Given the description of an element on the screen output the (x, y) to click on. 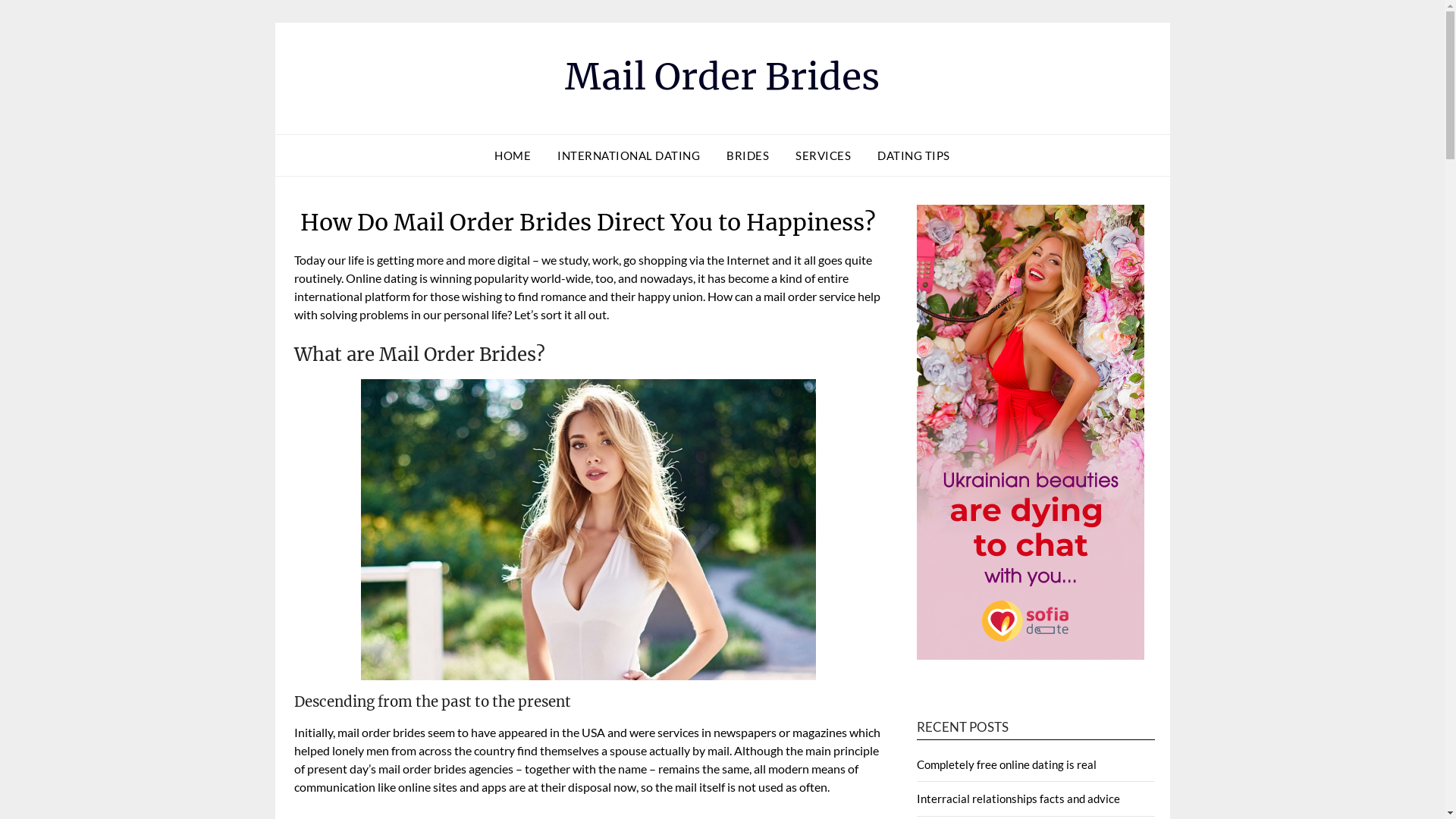
Completely free online dating is real Element type: text (1005, 764)
DATING TIPS Element type: text (913, 154)
INTERNATIONAL DATING Element type: text (628, 154)
SERVICES Element type: text (822, 154)
HOME Element type: text (512, 154)
Mail Order Brides Element type: text (721, 76)
Interracial relationships facts and advice Element type: text (1017, 798)
BRIDES Element type: text (747, 154)
